Given the description of an element on the screen output the (x, y) to click on. 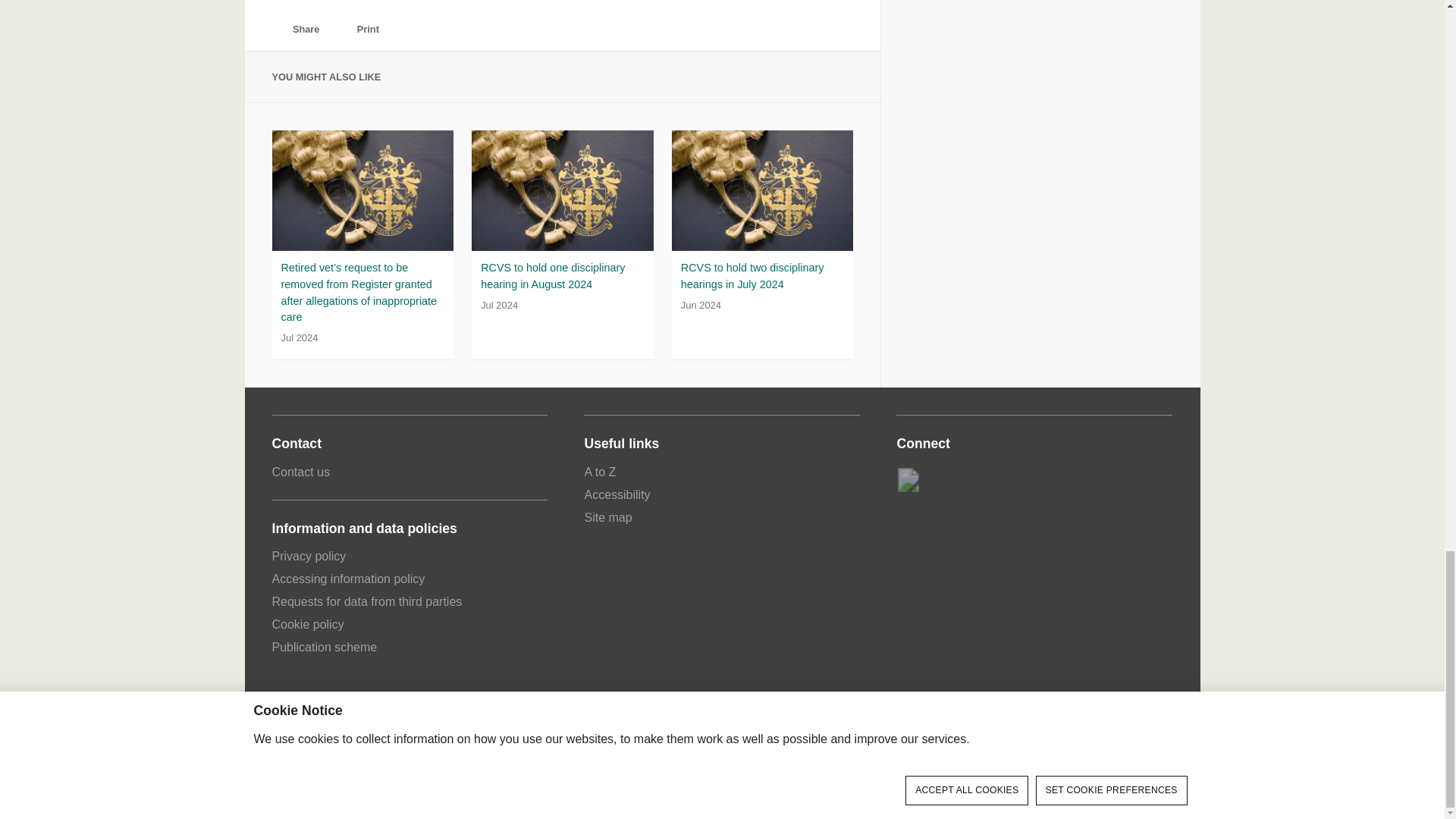
share (278, 29)
print (343, 29)
